Given the description of an element on the screen output the (x, y) to click on. 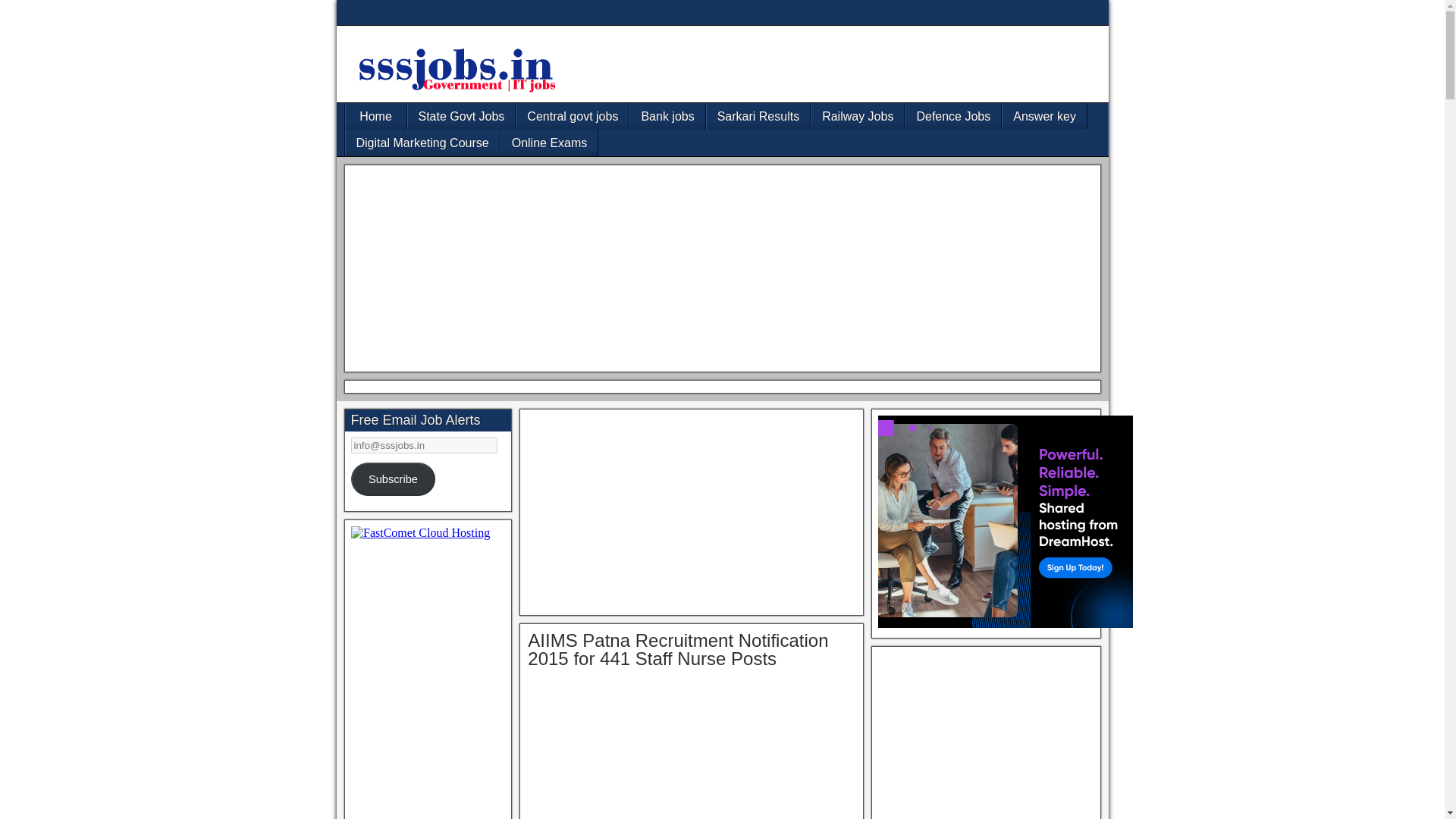
Home (376, 116)
Answer key (1044, 116)
Subscribe (392, 479)
Sarkari Results (757, 116)
Defence Jobs (953, 116)
Digital Marketing Course (422, 142)
Railway Jobs (857, 116)
State Govt Jobs (461, 116)
Online Exams (549, 142)
Bank jobs (667, 116)
Central govt jobs (572, 116)
